Given the description of an element on the screen output the (x, y) to click on. 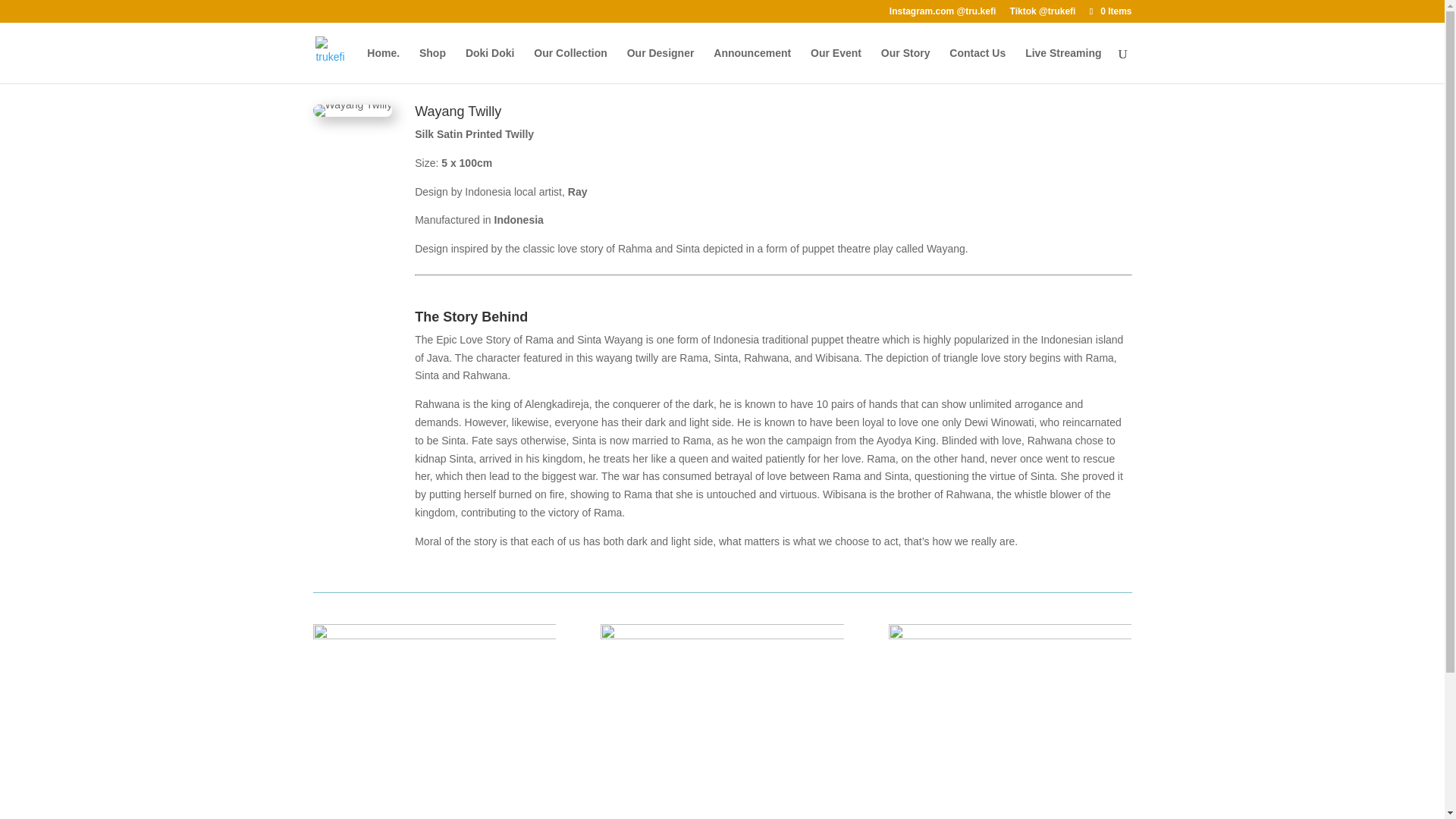
Home. (382, 65)
Announcement (751, 65)
Wayang Twilly (1009, 721)
Contact Us (977, 65)
Wayang Twilly (721, 721)
Our Designer (660, 65)
Live Streaming (1062, 65)
Doki Doki (490, 65)
Wayang Twilly (433, 721)
Our Collection (570, 65)
